Given the description of an element on the screen output the (x, y) to click on. 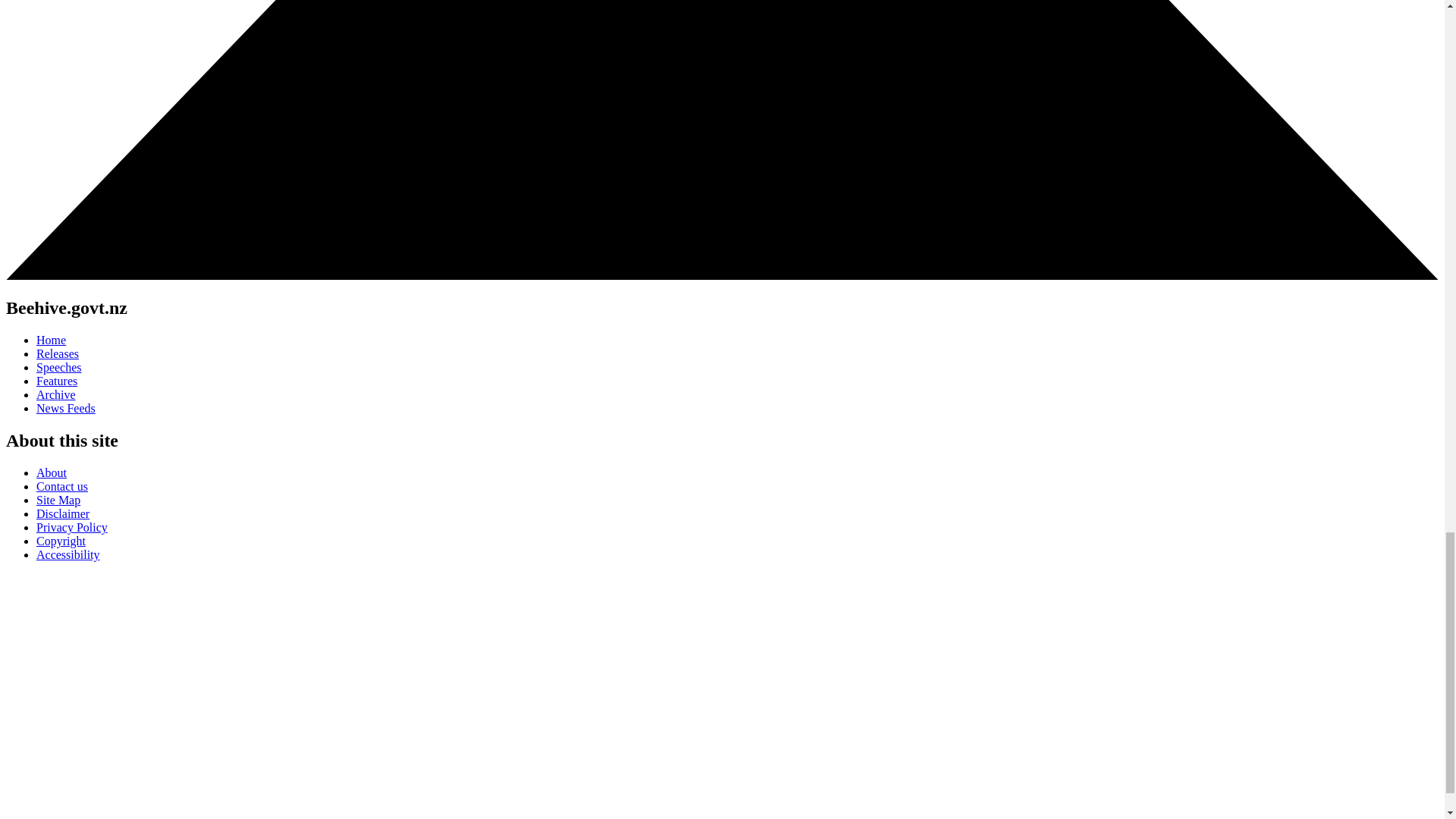
Archive (55, 394)
Copyright (60, 540)
News Feeds (66, 408)
Disclaimer (62, 513)
Privacy Policy (71, 526)
Features (56, 380)
Home (50, 339)
Site Map (58, 499)
Accessibility (68, 554)
Speeches (58, 367)
